Given the description of an element on the screen output the (x, y) to click on. 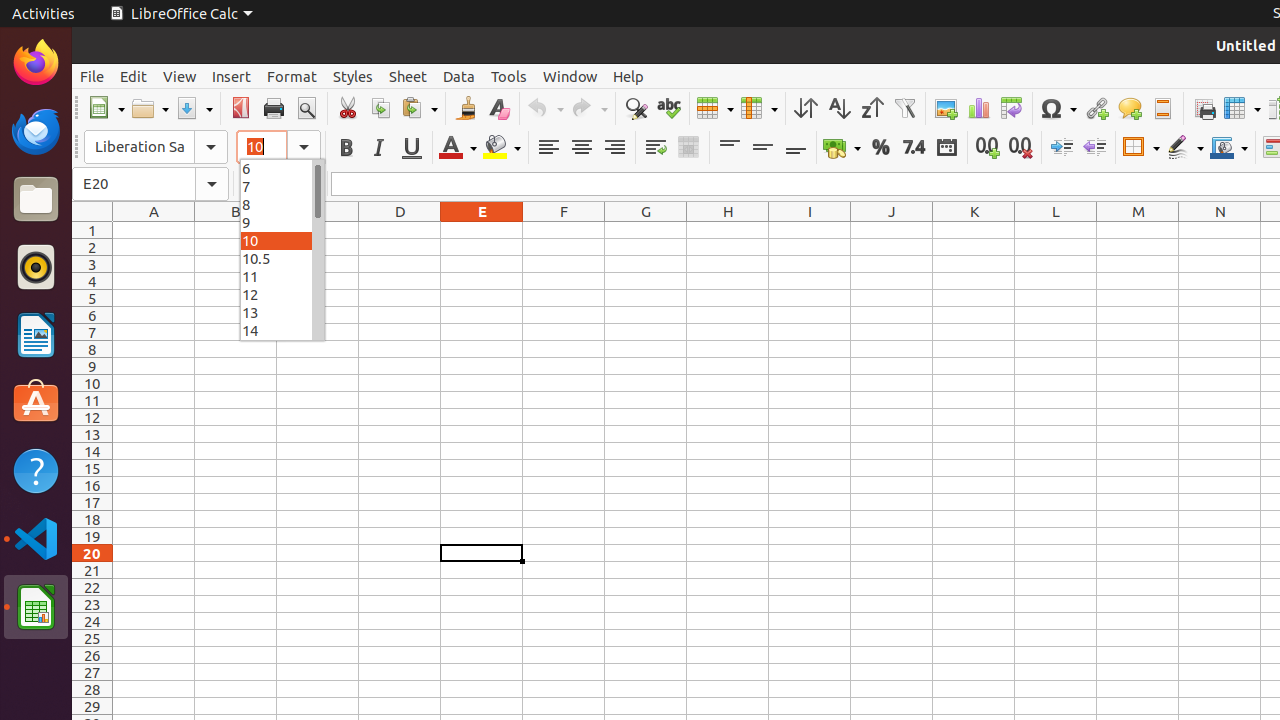
Sort Descending Element type: push-button (871, 108)
Print Area Element type: push-button (1203, 108)
Find & Replace Element type: toggle-button (635, 108)
L1 Element type: table-cell (1056, 230)
11 Element type: list-item (282, 276)
